Given the description of an element on the screen output the (x, y) to click on. 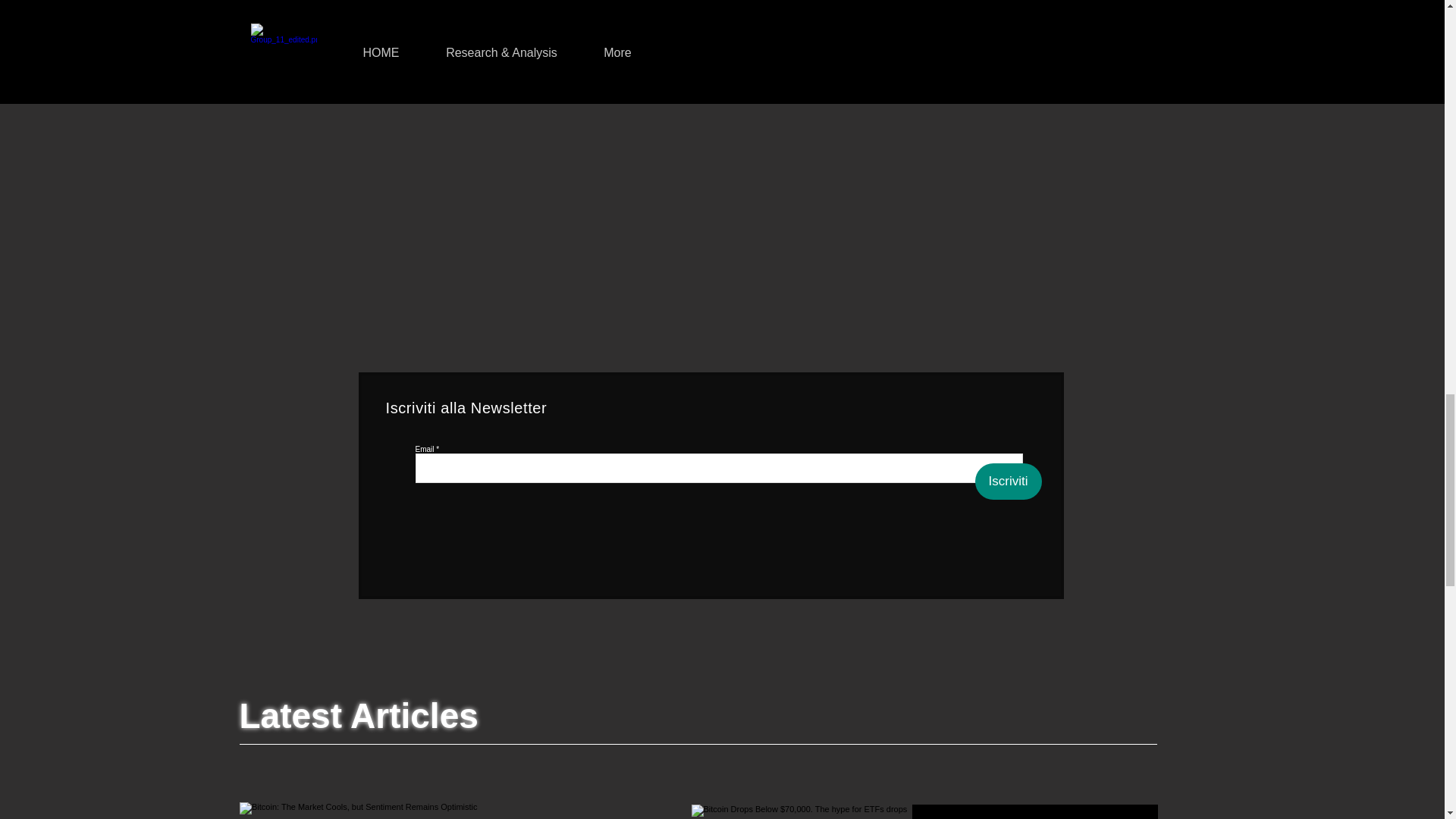
Iscriviti (1008, 481)
